Given the description of an element on the screen output the (x, y) to click on. 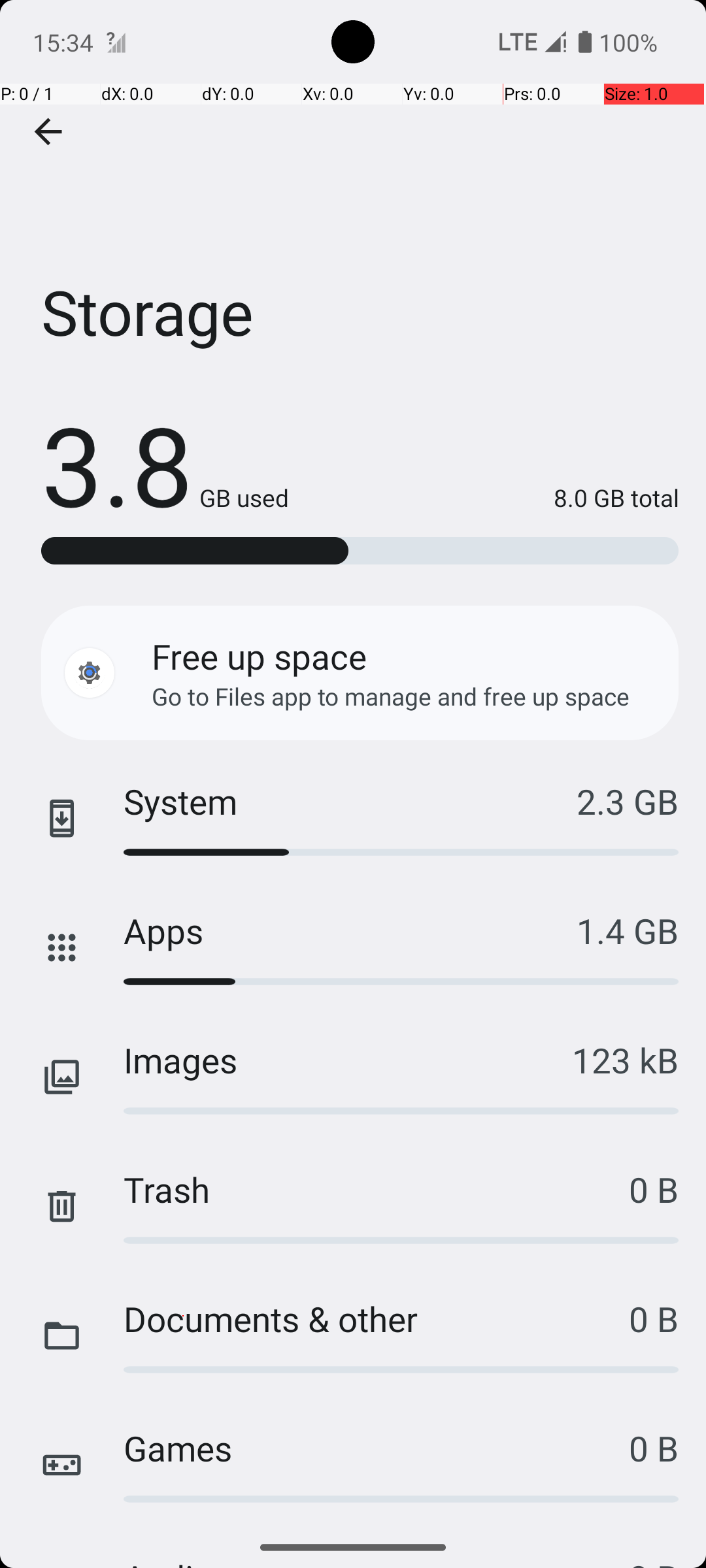
3.8 GB used Element type: android.widget.TextView (164, 463)
1.4 GB Element type: android.widget.TextView (627, 930)
123 kB Element type: android.widget.TextView (624, 1059)
